Given the description of an element on the screen output the (x, y) to click on. 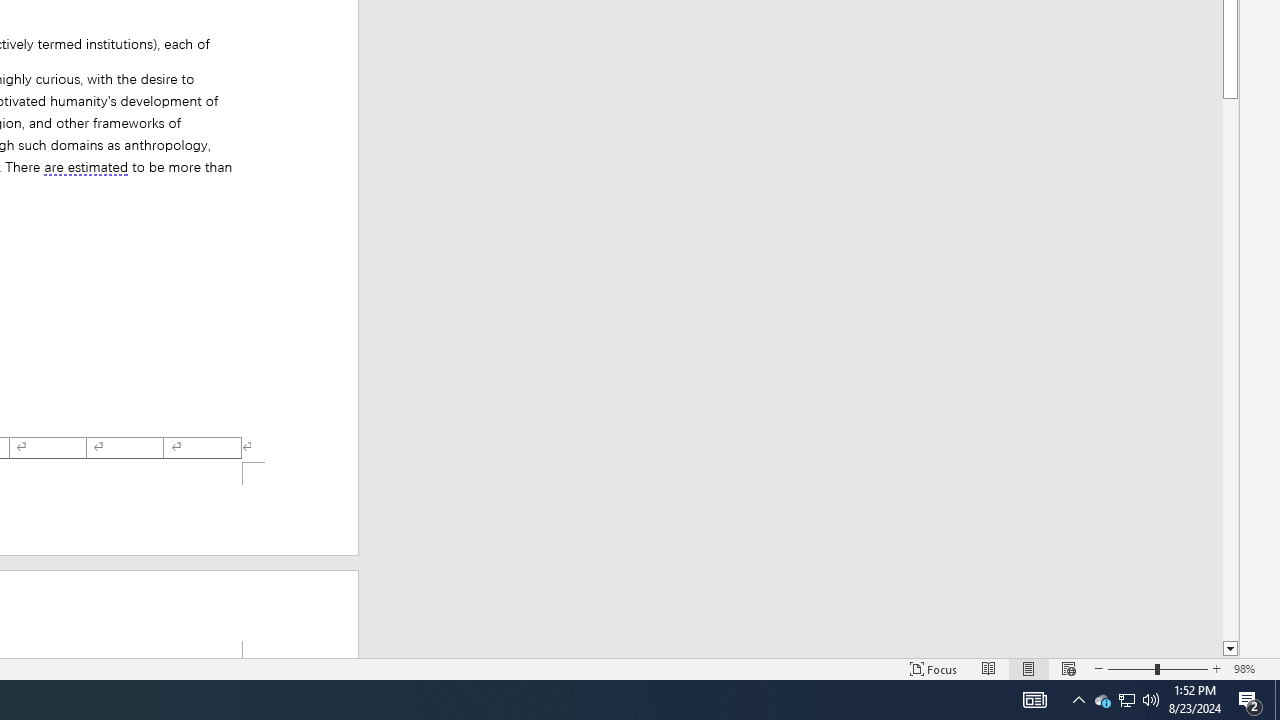
Zoom Out (1131, 668)
Zoom (1158, 668)
Read Mode (988, 668)
Print Layout (1028, 668)
Zoom In (1217, 668)
Focus  (934, 668)
Web Layout (1069, 668)
